Given the description of an element on the screen output the (x, y) to click on. 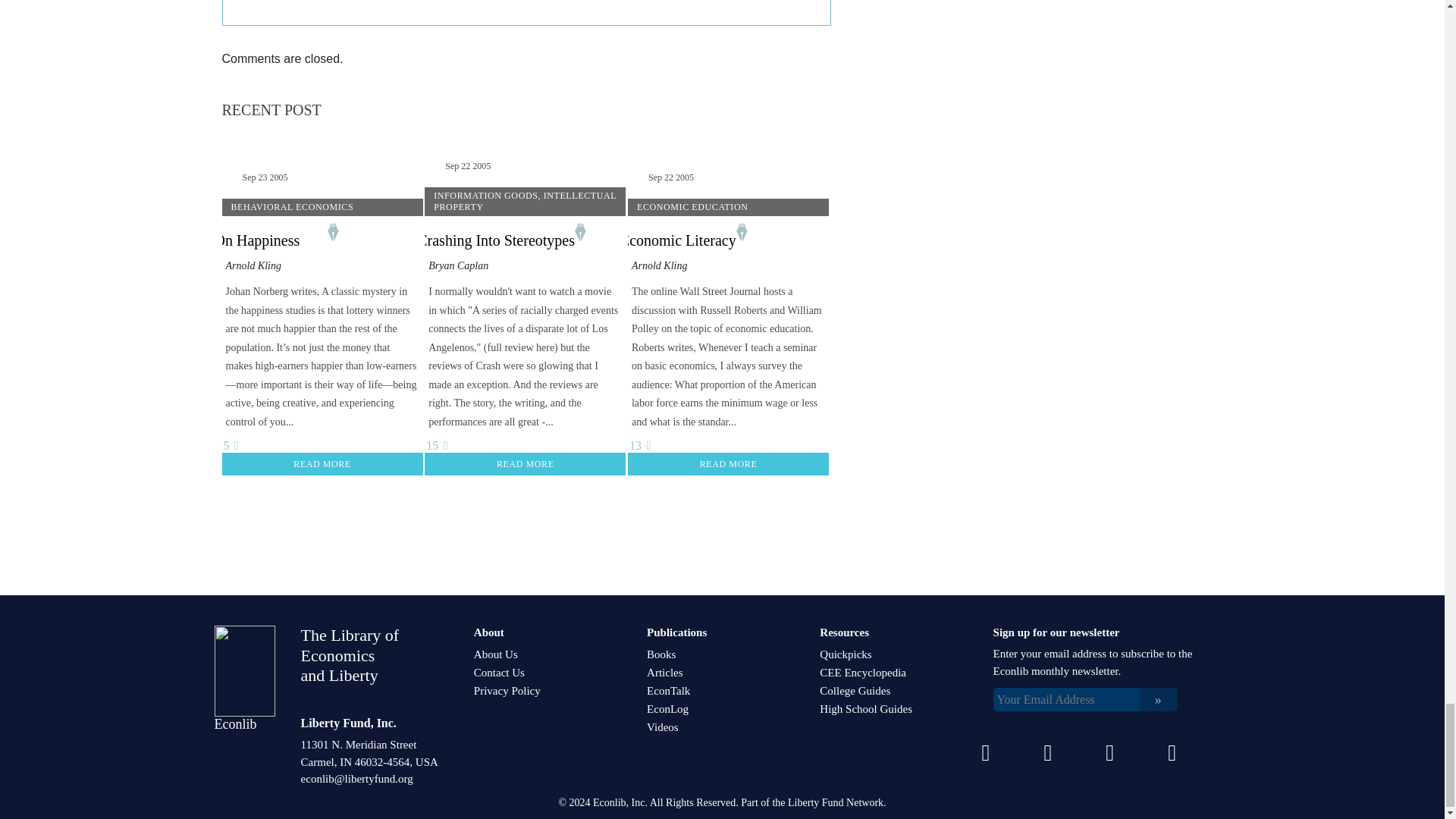
Arnold Kling (659, 265)
Bryan Caplan (457, 265)
Arnold Kling (253, 265)
